Given the description of an element on the screen output the (x, y) to click on. 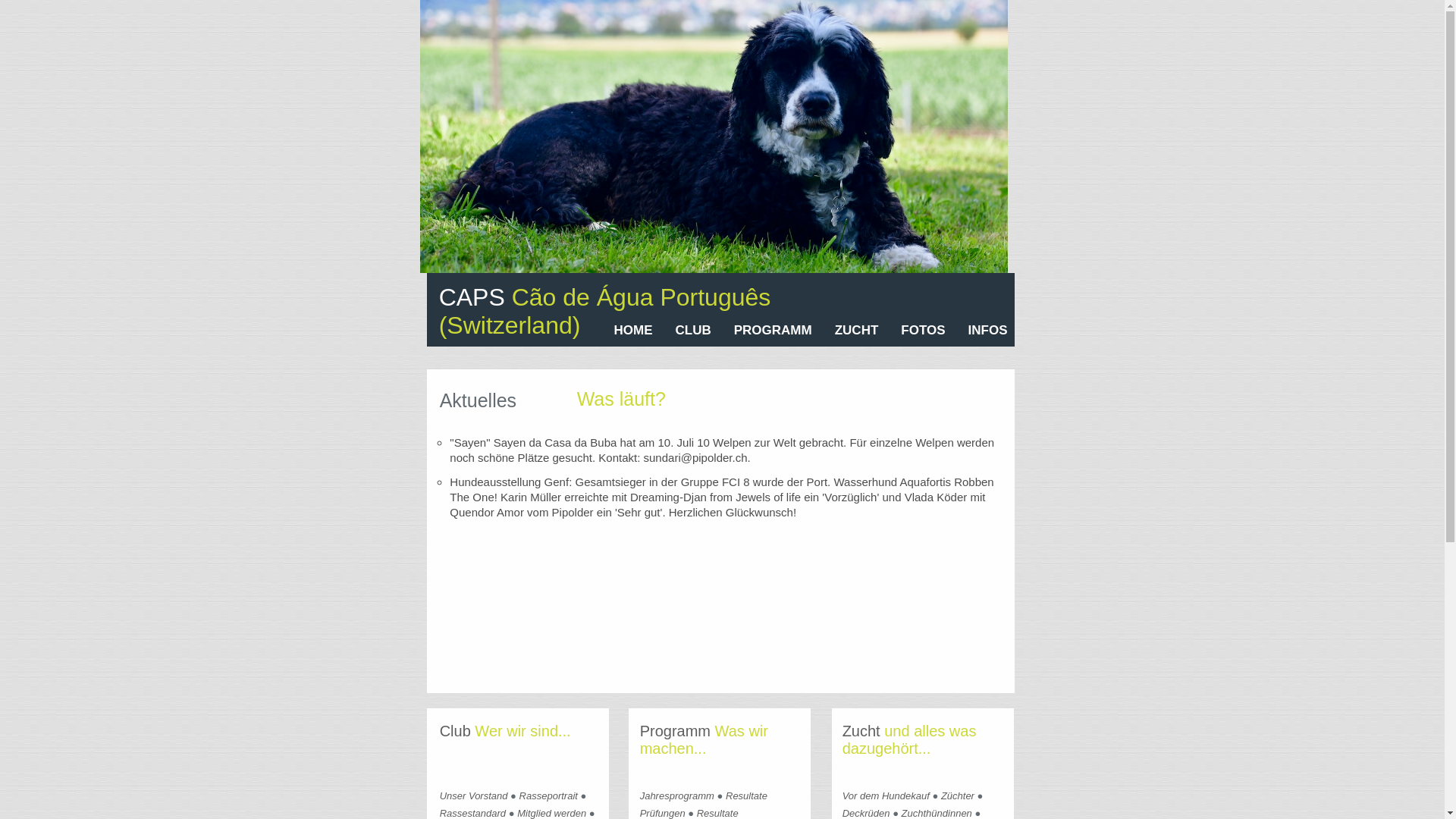
Club Element type: text (454, 730)
Jahresprogramm Element type: text (677, 795)
HOME Element type: text (633, 330)
Unser Vorstand Element type: text (473, 795)
Rasseportrait Element type: text (548, 795)
Zucht Element type: text (861, 730)
Programm Element type: text (675, 730)
INFOS Element type: text (987, 330)
PROGRAMM Element type: text (773, 330)
ZUCHT Element type: text (856, 330)
CLUB Element type: text (693, 330)
Vor dem Hundekauf Element type: text (885, 795)
FOTOS Element type: text (922, 330)
